Given the description of an element on the screen output the (x, y) to click on. 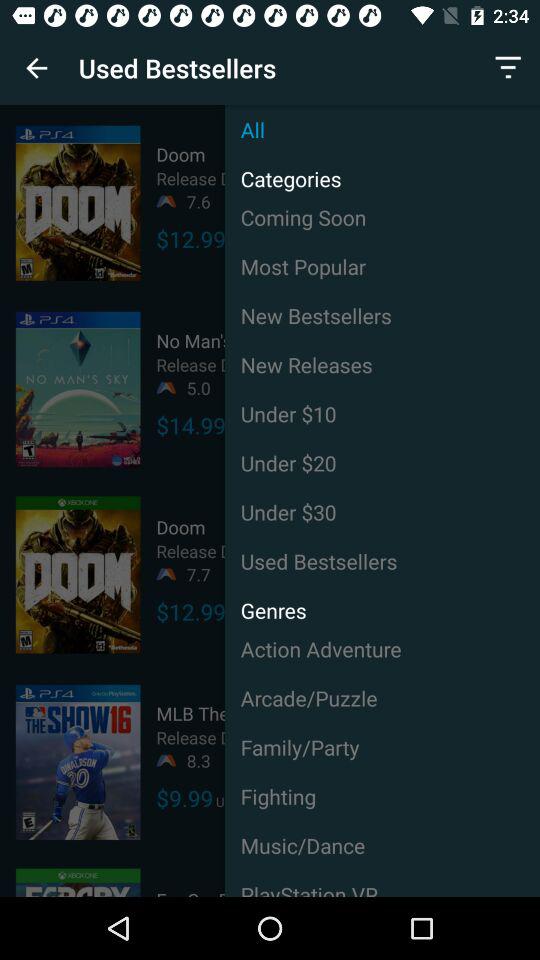
click item above arcade/puzzle item (382, 648)
